Given the description of an element on the screen output the (x, y) to click on. 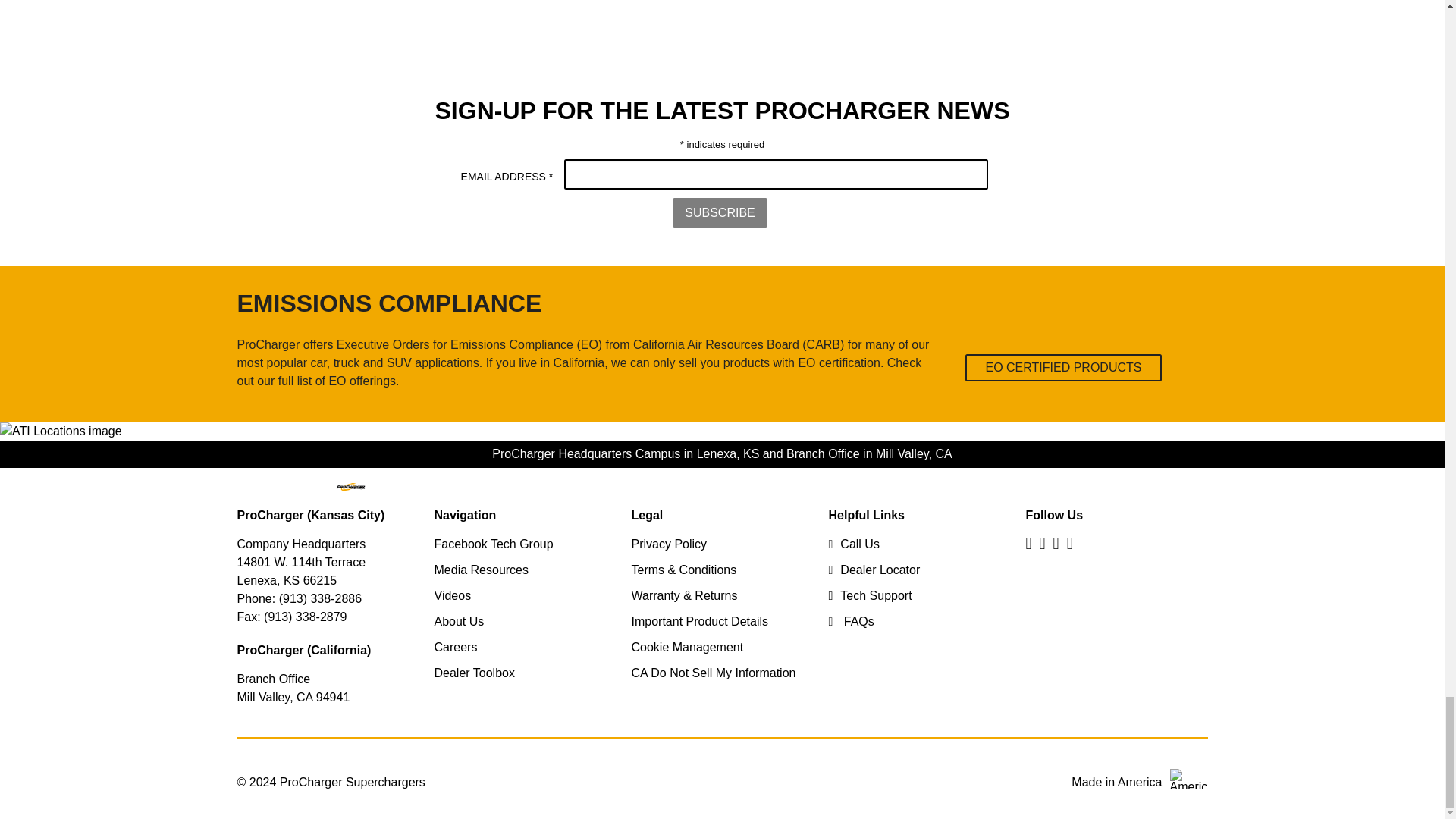
Subscribe (719, 213)
